Given the description of an element on the screen output the (x, y) to click on. 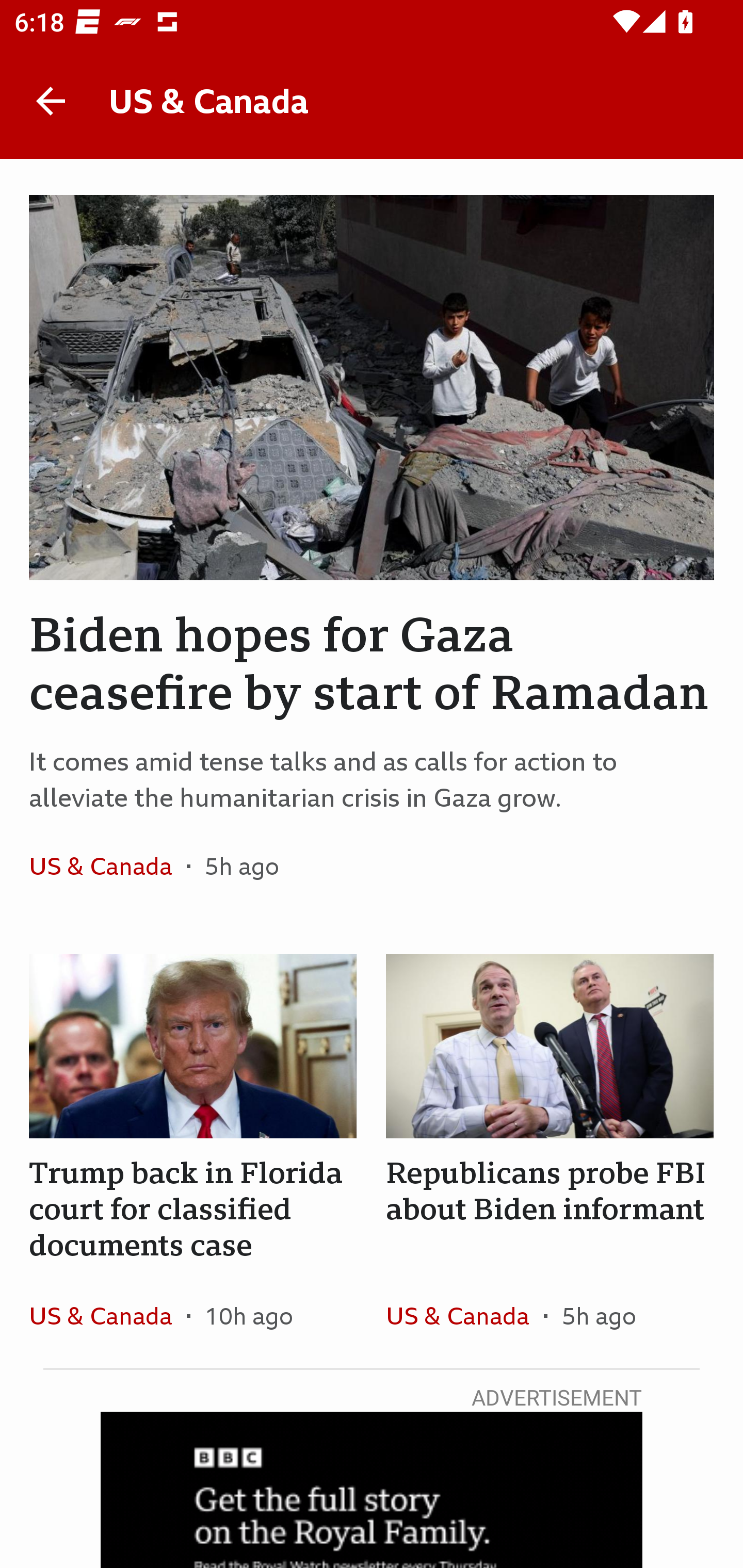
Back (50, 101)
US & Canada In the section US & Canada (107, 865)
US & Canada In the section US & Canada (107, 1315)
US & Canada In the section US & Canada (464, 1315)
